Given the description of an element on the screen output the (x, y) to click on. 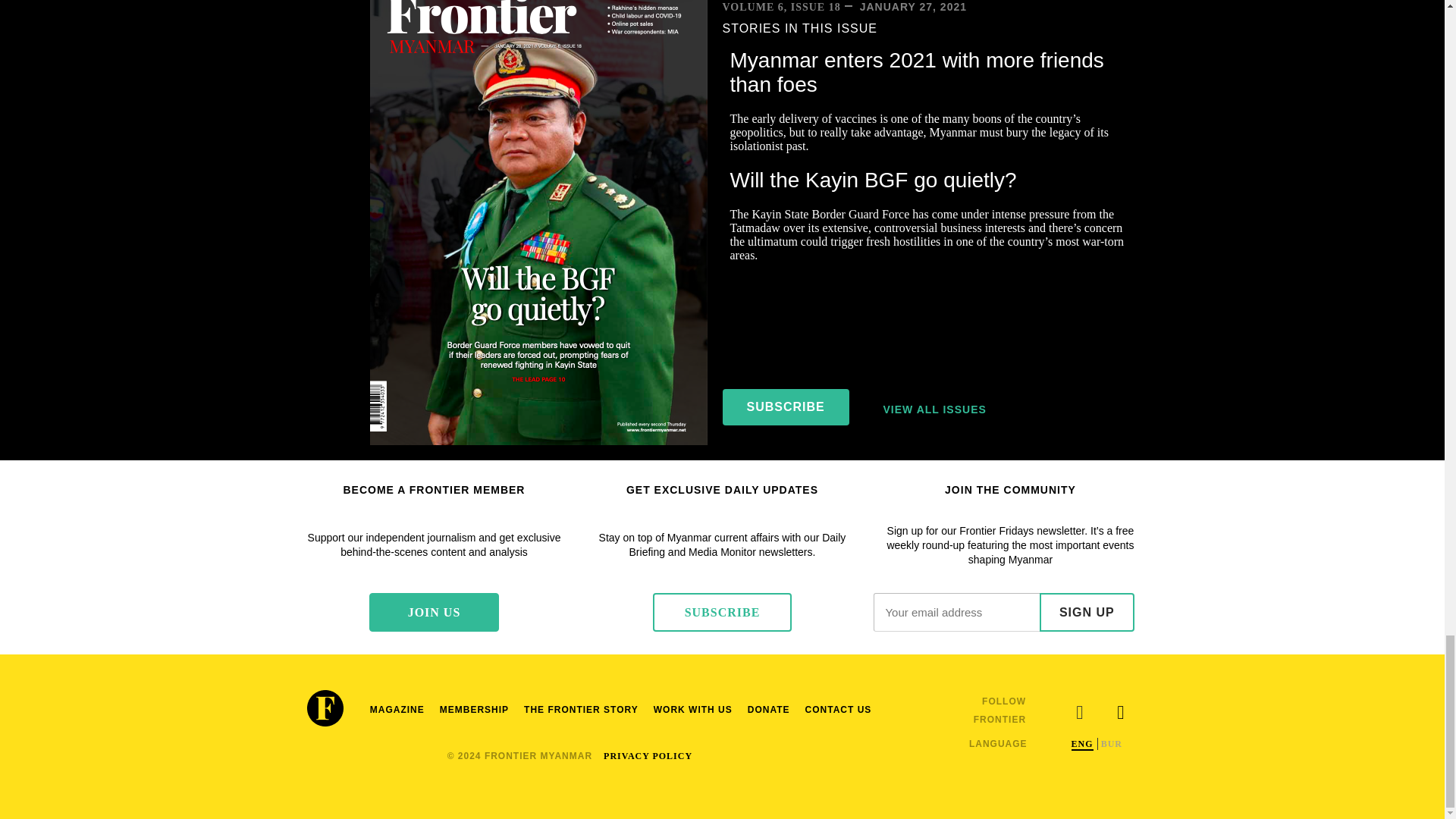
VIEW ALL ISSUES (933, 409)
JOIN US (434, 611)
WORK WITH US (692, 709)
SUBSCRIBE (785, 407)
MAGAZINE (397, 709)
VOLUME 6, ISSUE 18 (781, 7)
Sign Up (1086, 611)
MEMBERSHIP (474, 709)
SUBSCRIBE (722, 611)
THE FRONTIER STORY (581, 709)
Sign Up (1086, 611)
